Given the description of an element on the screen output the (x, y) to click on. 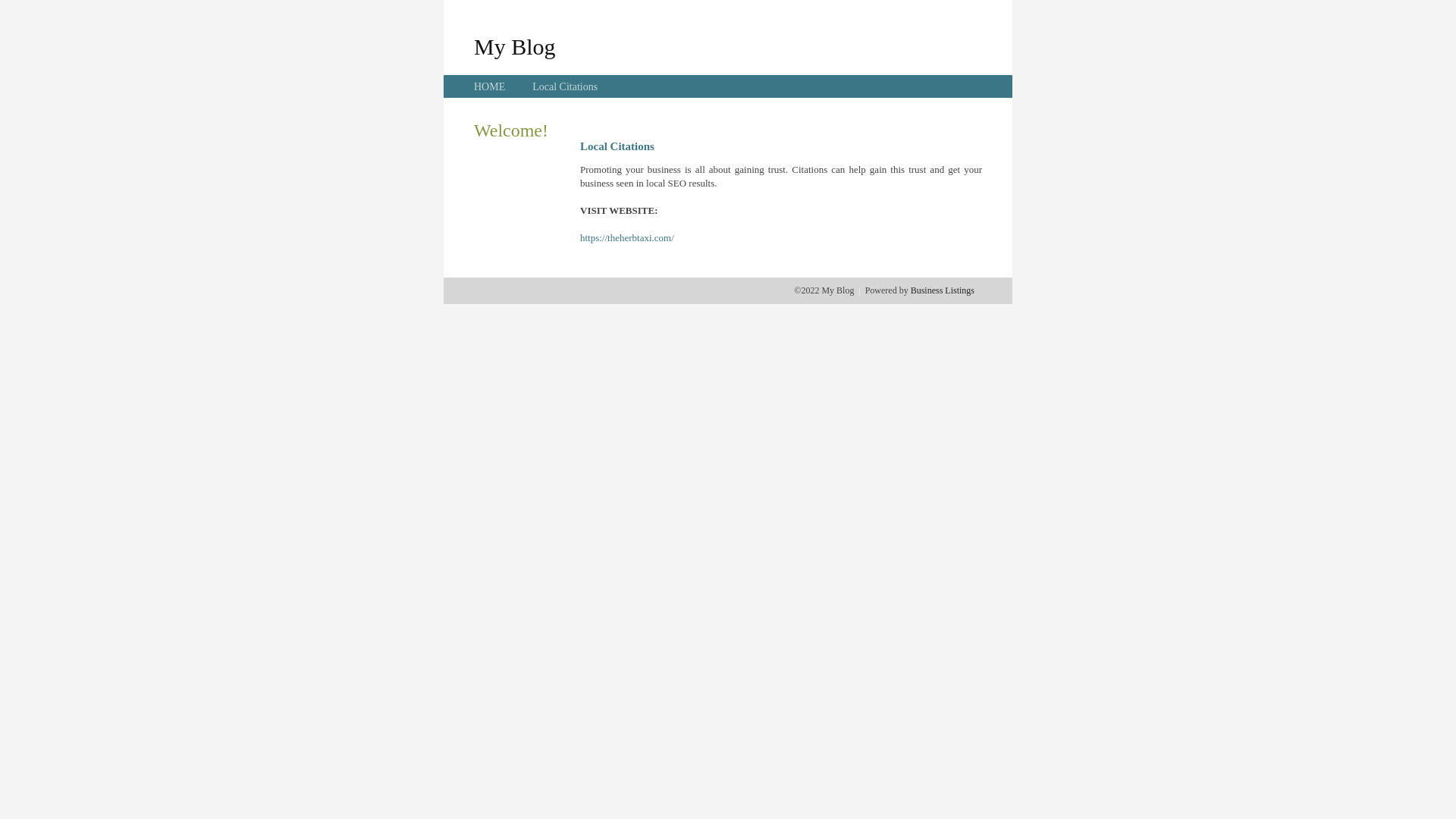
https://theherbtaxi.com/ Element type: text (627, 237)
Business Listings Element type: text (942, 290)
My Blog Element type: text (514, 46)
Local Citations Element type: text (564, 86)
HOME Element type: text (489, 86)
